Given the description of an element on the screen output the (x, y) to click on. 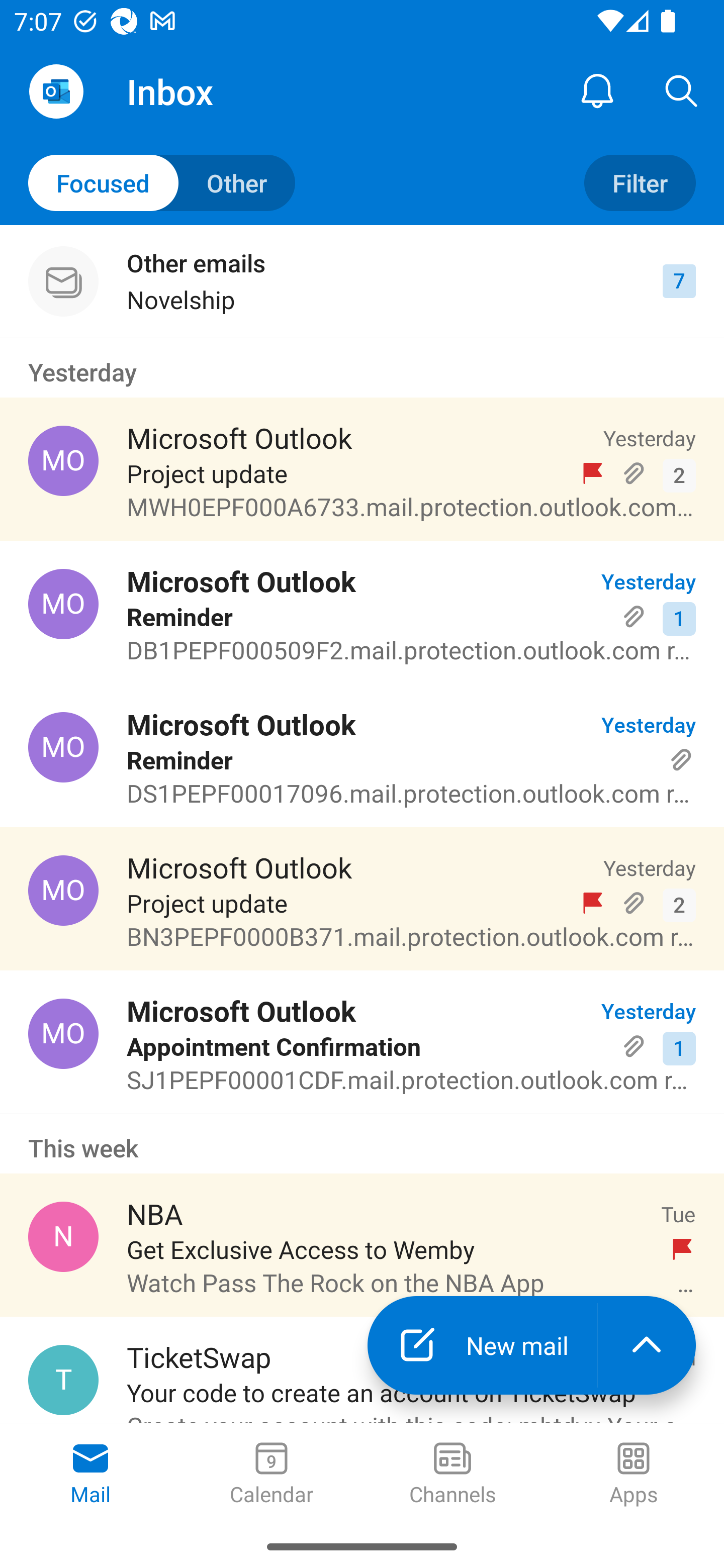
Notification Center (597, 90)
Search, ,  (681, 90)
Open Navigation Drawer (55, 91)
Toggle to other mails (161, 183)
Filter (639, 183)
Other emails Novelship 7 (362, 281)
NBA, NBA@email.nba.com (63, 1236)
New mail (481, 1344)
launch the extended action menu (646, 1344)
TicketSwap, info@ticketswap.com (63, 1380)
Calendar (271, 1474)
Channels (452, 1474)
Apps (633, 1474)
